Given the description of an element on the screen output the (x, y) to click on. 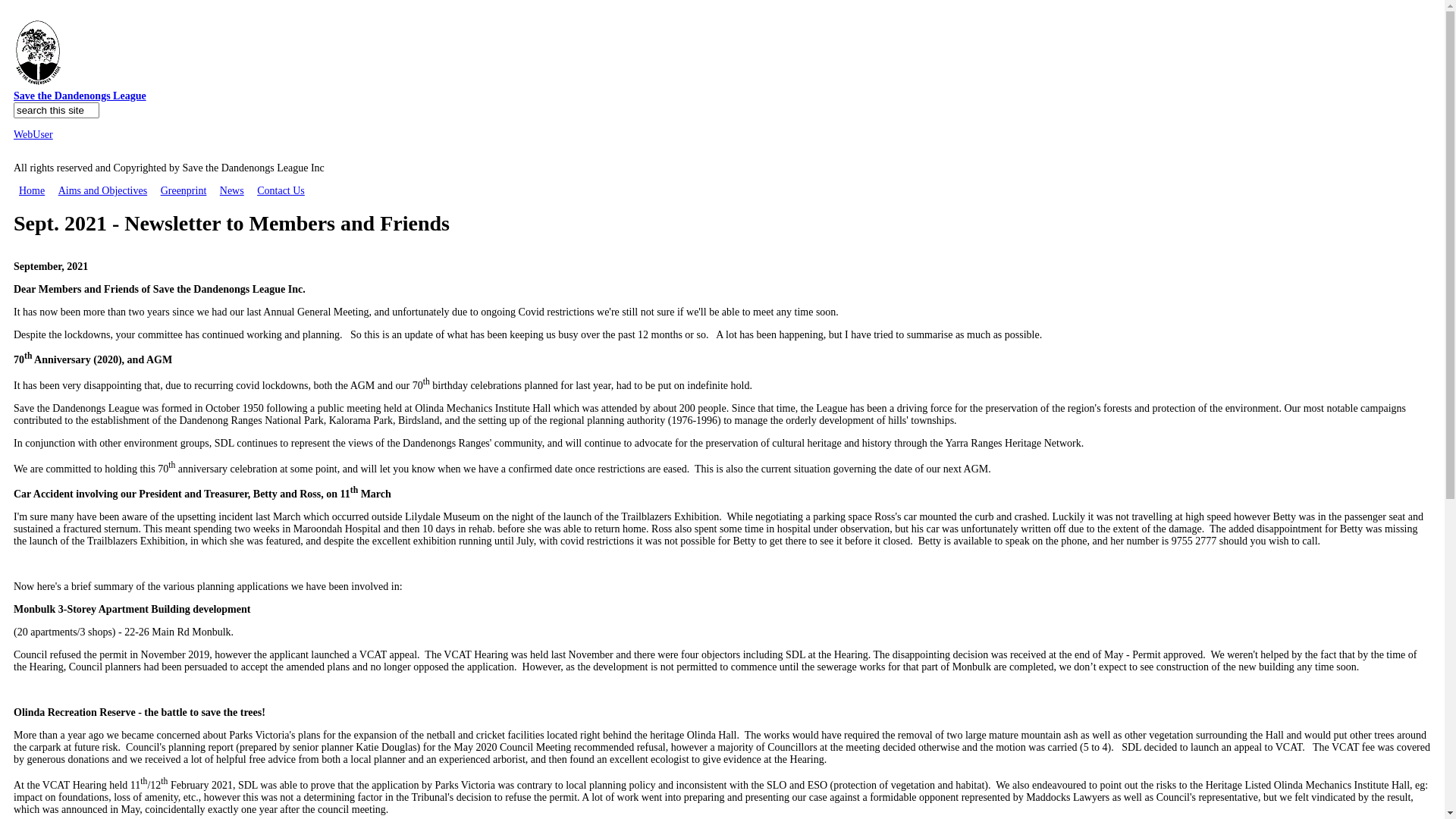
Home Element type: text (31, 190)
Greenprint Element type: text (183, 190)
Contact Us Element type: text (280, 190)
WebUser Element type: text (33, 134)
Skip to main content Element type: text (50, 10)
Save the Dandenongs League Element type: text (79, 95)
News Element type: text (231, 190)
Aims and Objectives Element type: text (102, 190)
Home Element type: hover (37, 83)
